Given the description of an element on the screen output the (x, y) to click on. 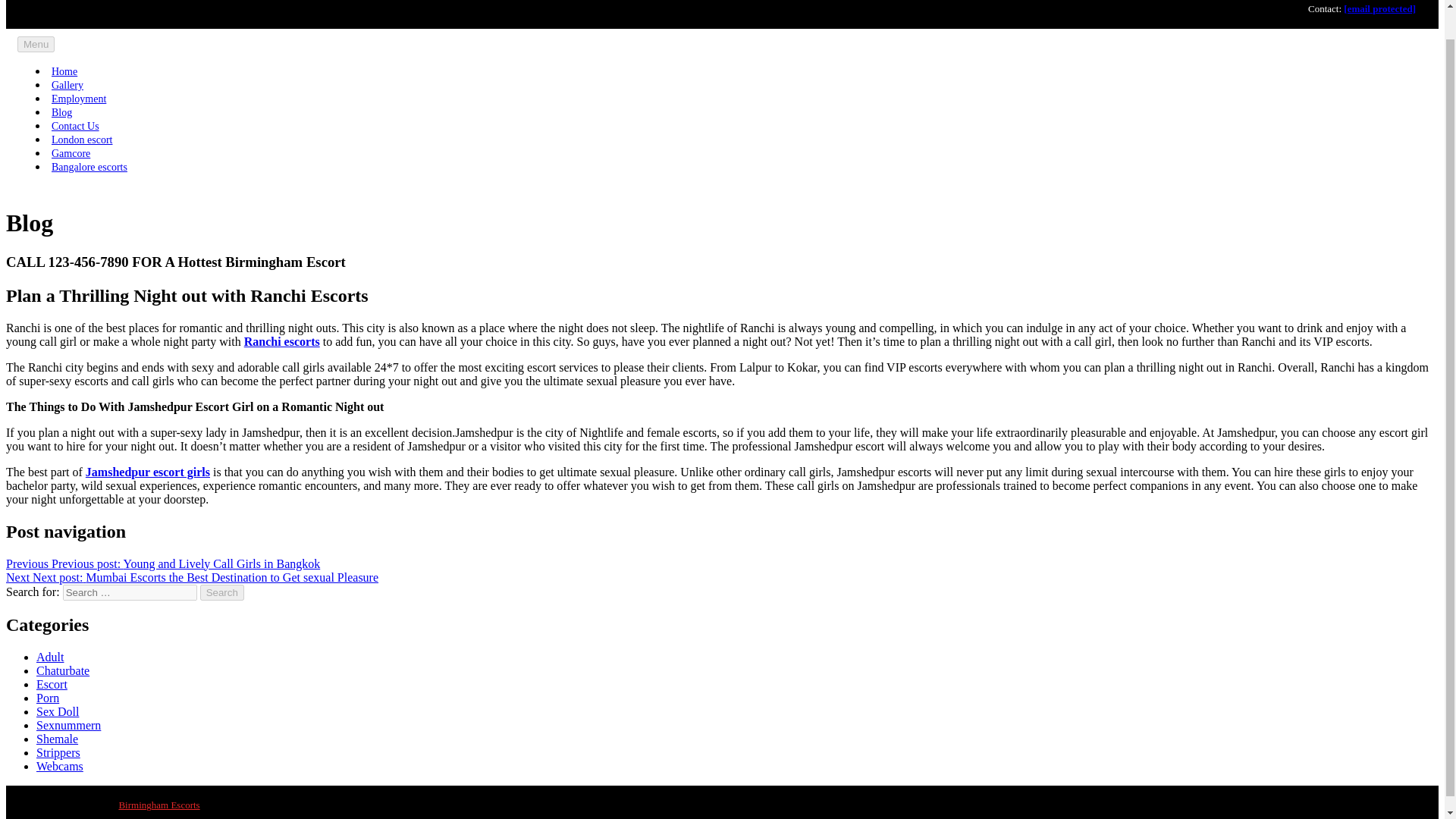
Blog (62, 112)
Strippers (58, 752)
Gallery (67, 84)
Adult (50, 656)
Porn (47, 697)
Sexnummern (68, 725)
Chaturbate (62, 670)
Employment (79, 98)
Gamcore (71, 153)
Birmingham Escorts (158, 804)
Sex Doll (57, 711)
Jamshedpur escort girls (147, 472)
Shemale (57, 738)
Menu (36, 44)
